Given the description of an element on the screen output the (x, y) to click on. 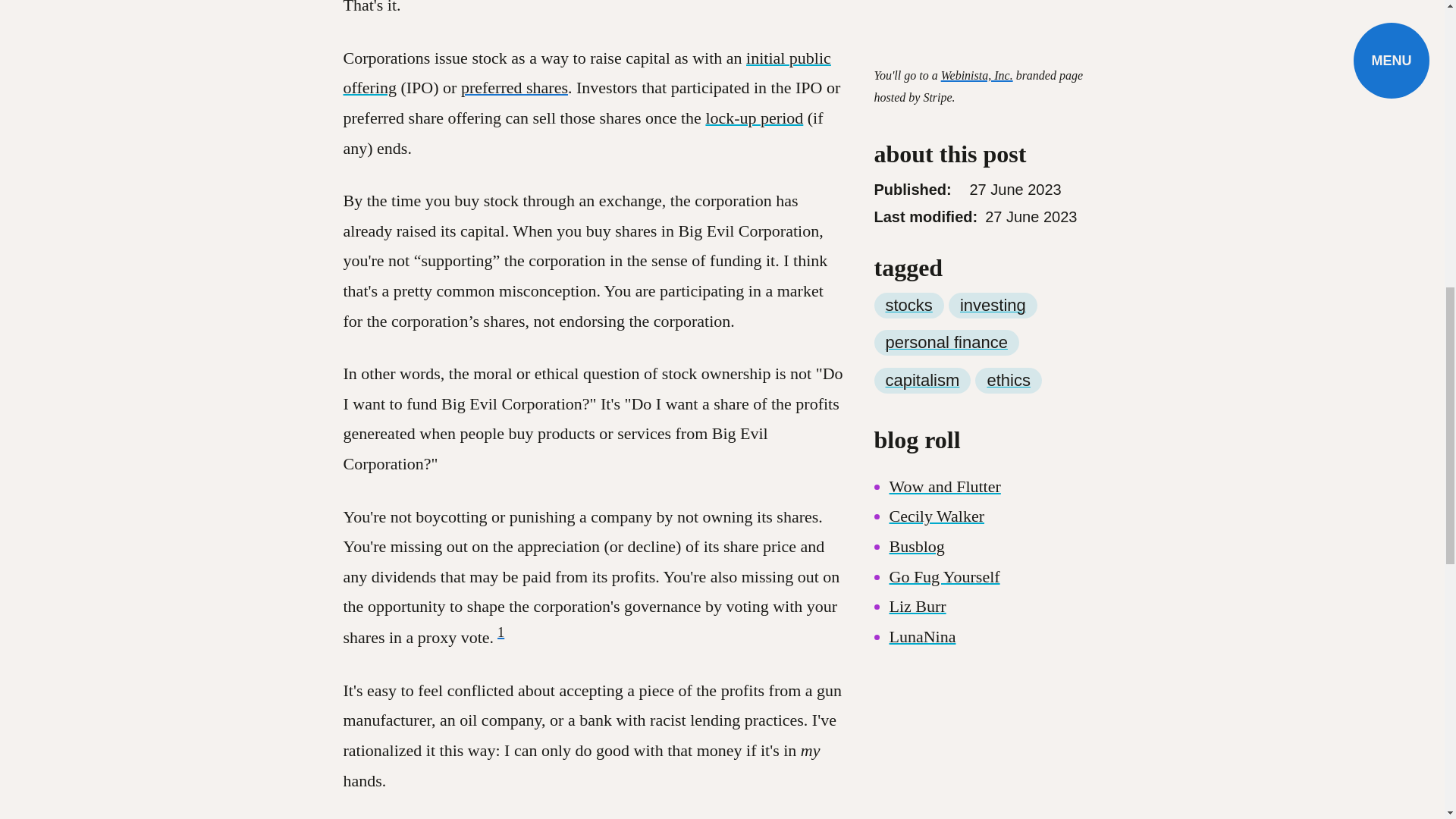
ethics (1008, 325)
personal finance (945, 288)
Webinista, Inc. (976, 20)
Cecily Walker (936, 461)
Busblog (915, 491)
stocks (908, 250)
lock-up period (753, 117)
investing (992, 250)
Liz Burr (916, 551)
initial public offering (585, 72)
Go Fug Yourself (943, 521)
preferred shares (514, 87)
LunaNina (921, 581)
Wow and Flutter (944, 431)
capitalism (922, 325)
